Given the description of an element on the screen output the (x, y) to click on. 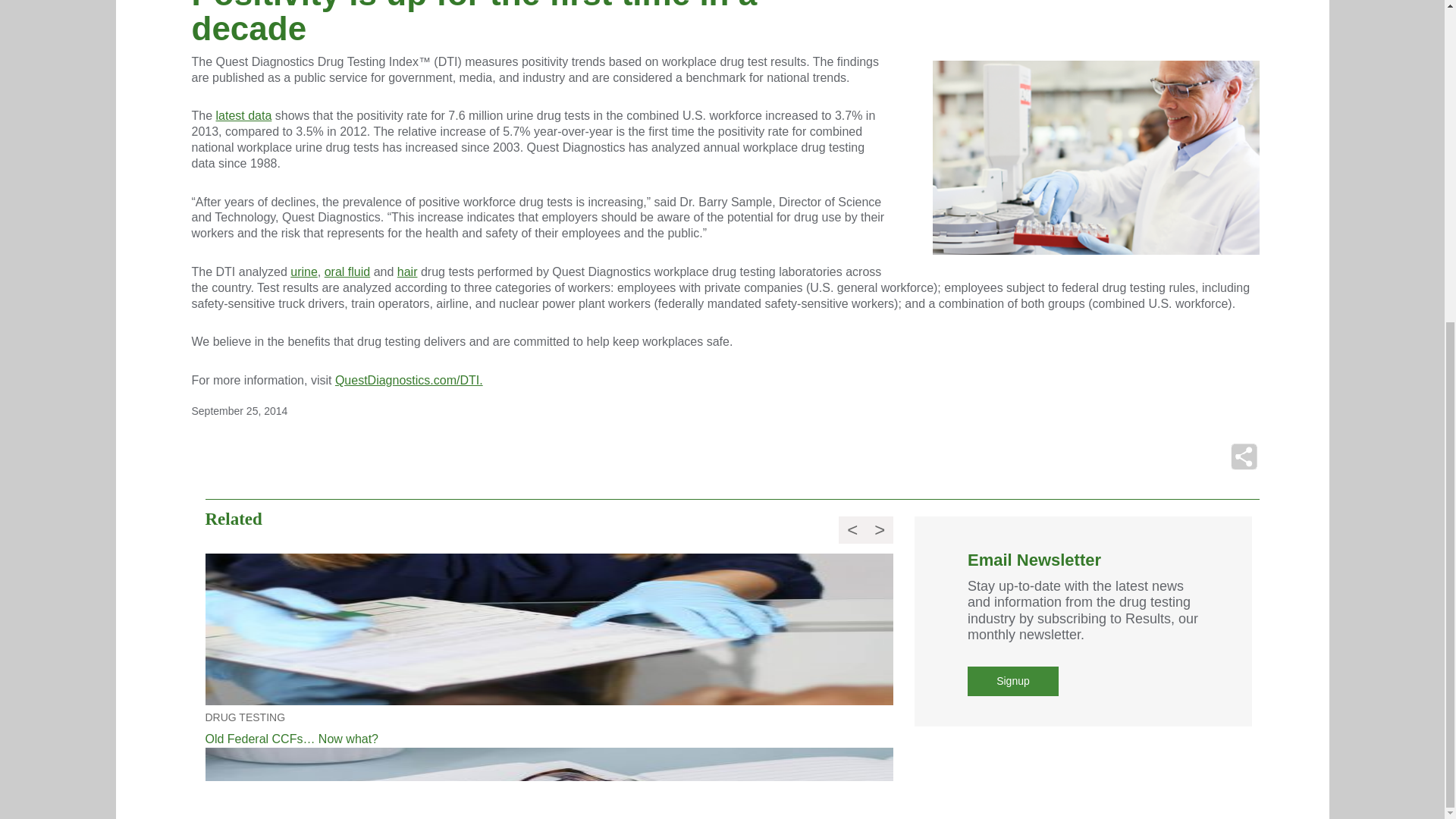
urine (303, 271)
hair (407, 271)
Oral fluid drug testing (346, 271)
latest data (243, 115)
Drug Testing Index  (243, 115)
Urine Drug Testing (303, 271)
DTI website (408, 379)
Hair drug testing (407, 271)
oral fluid (346, 271)
